Given the description of an element on the screen output the (x, y) to click on. 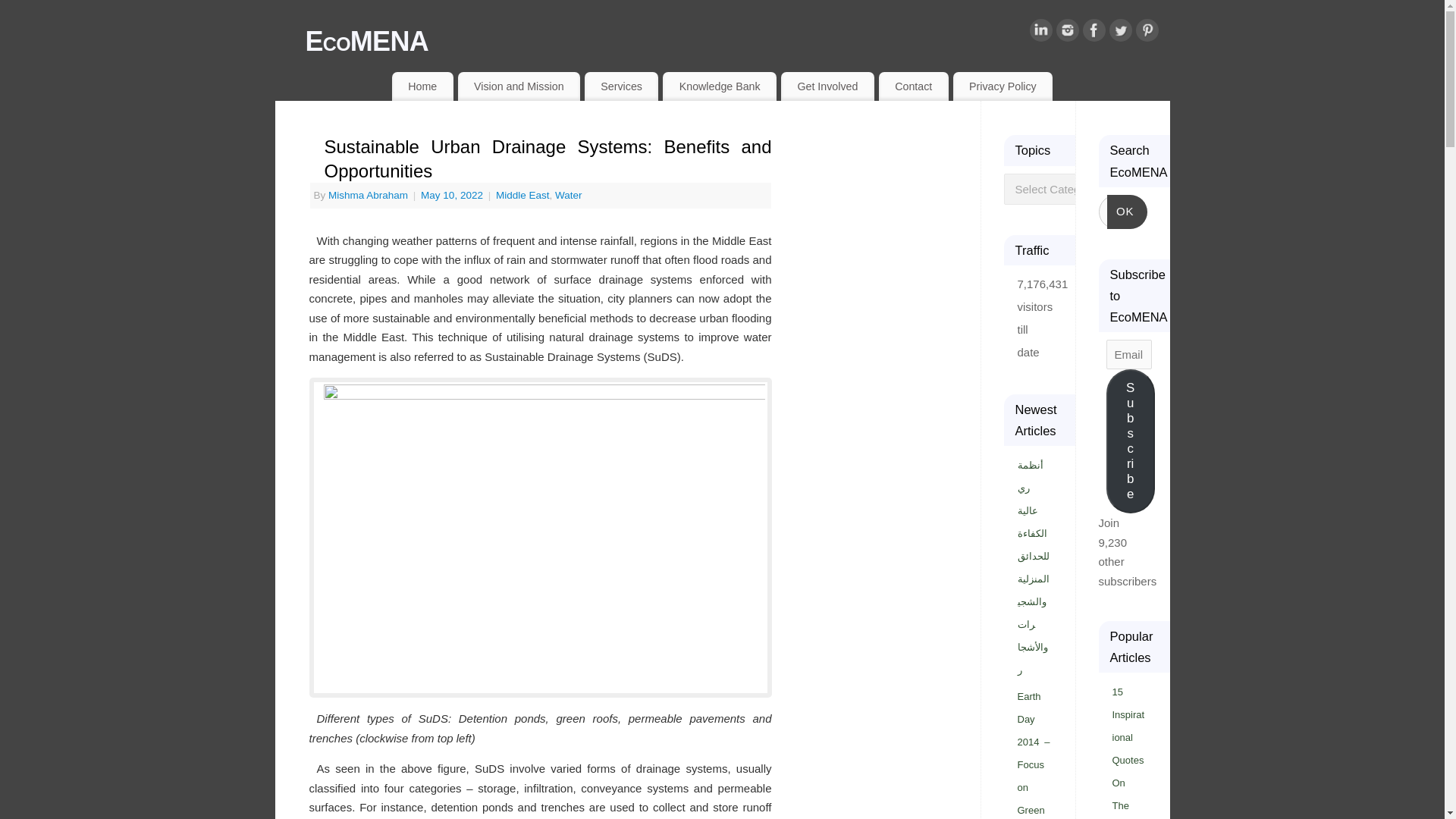
Knowledge Bank (719, 86)
Water (568, 194)
Services (621, 86)
Get Involved (827, 86)
Middle East (523, 194)
11:48 am (453, 194)
EcoMENA (736, 41)
Privacy Policy (1002, 86)
EcoMENA (736, 41)
Home (421, 86)
